Given the description of an element on the screen output the (x, y) to click on. 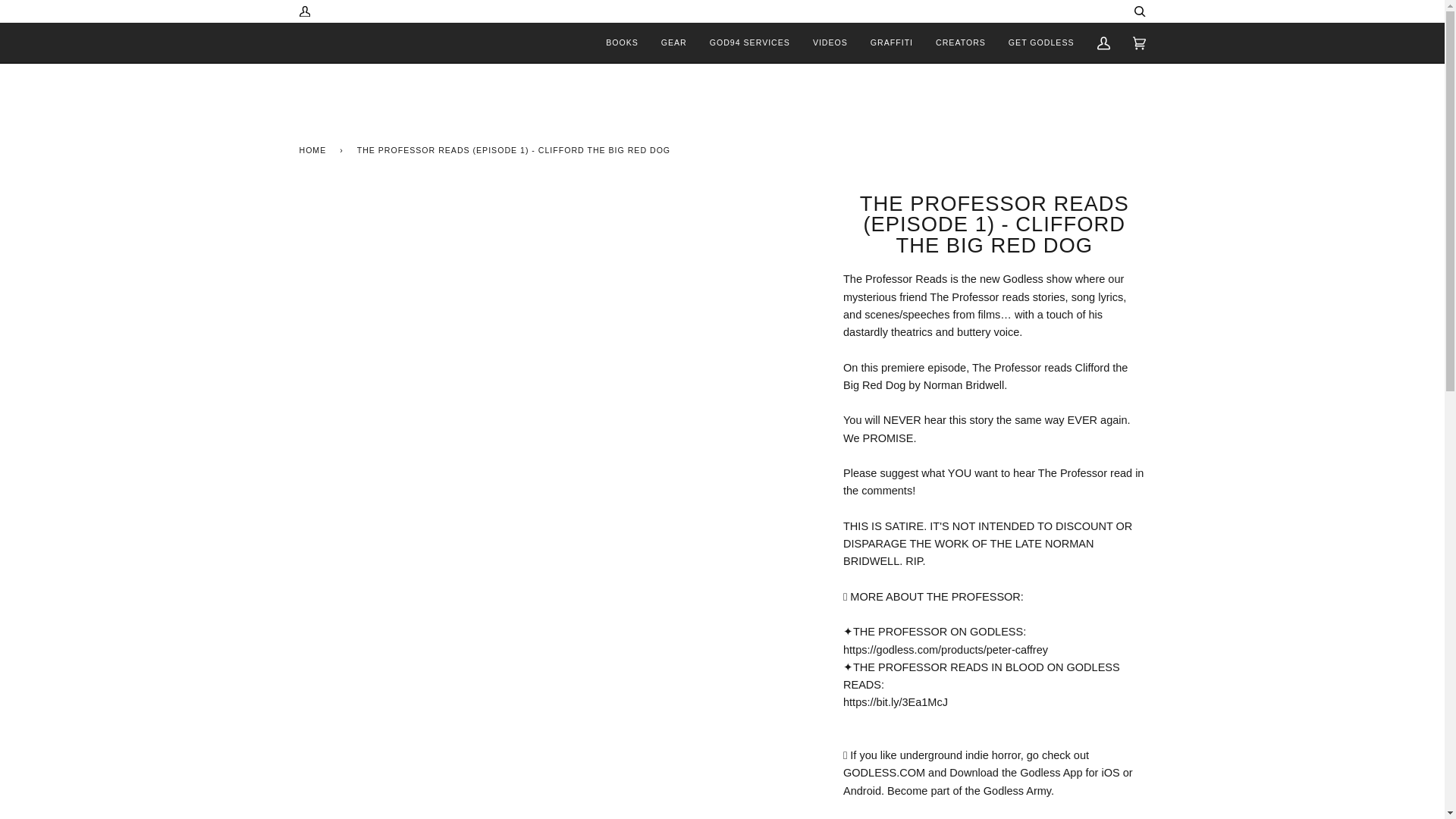
BOOKS (621, 42)
Back to the frontpage (314, 149)
GEAR (673, 42)
GOD94 SERVICES (750, 42)
